Given the description of an element on the screen output the (x, y) to click on. 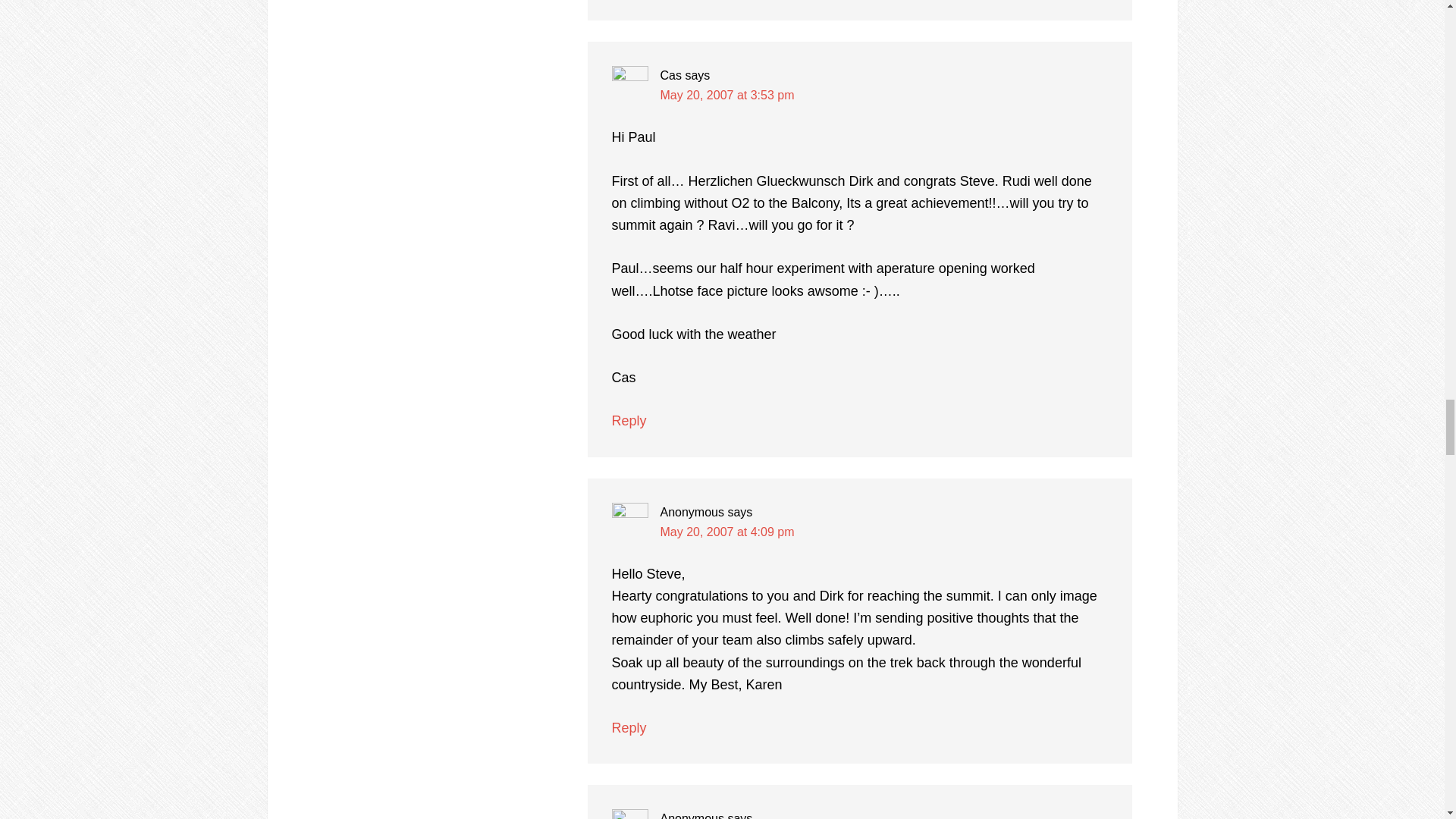
May 20, 2007 at 4:09 pm (726, 531)
May 20, 2007 at 3:53 pm (726, 94)
Reply (628, 727)
Reply (628, 420)
